Given the description of an element on the screen output the (x, y) to click on. 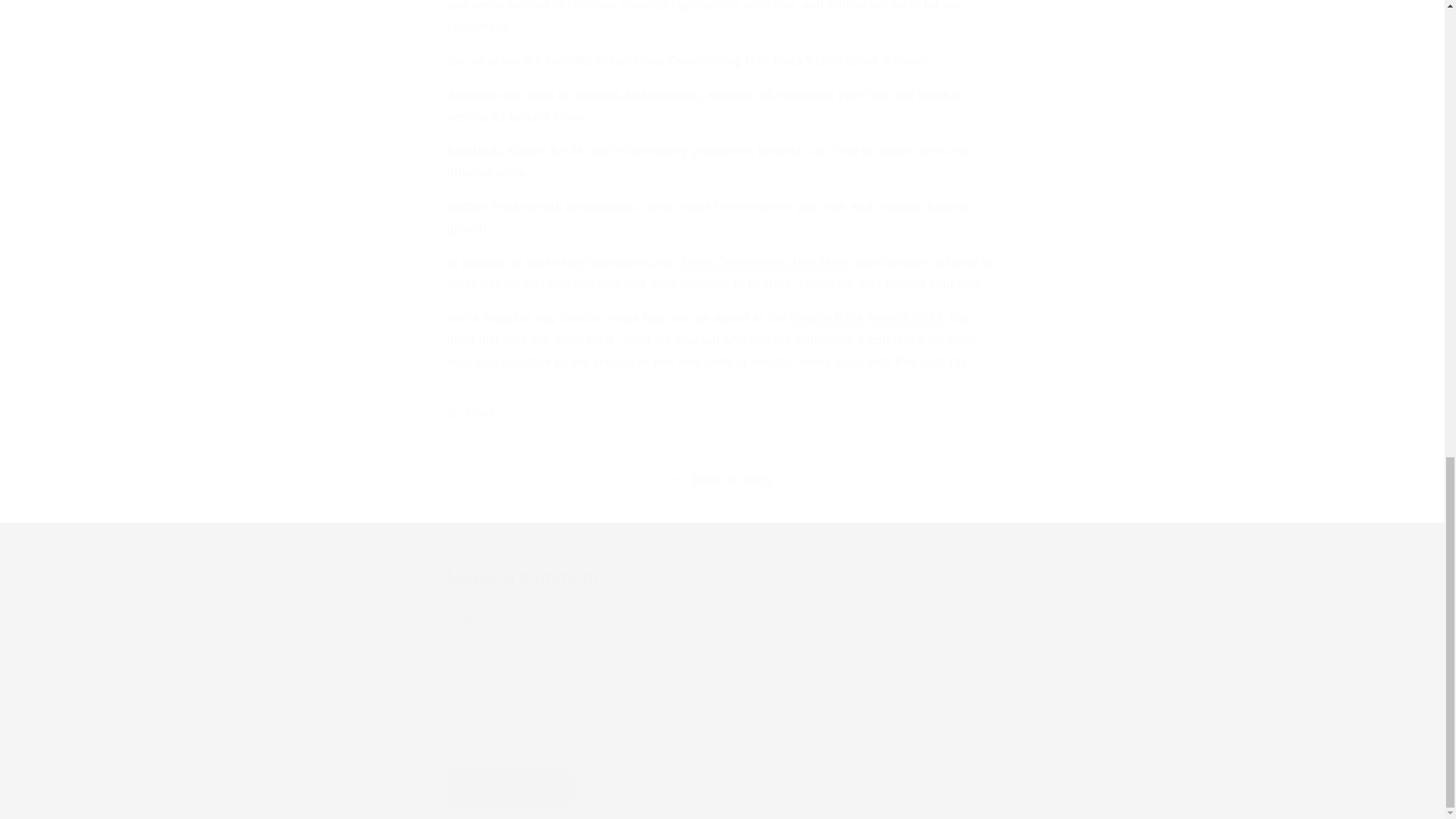
Beauty Bible Awards 2023 (866, 318)
Post comment (510, 787)
Post comment (510, 787)
Share (721, 412)
Deep Conditioning Hair Mask (765, 262)
